Given the description of an element on the screen output the (x, y) to click on. 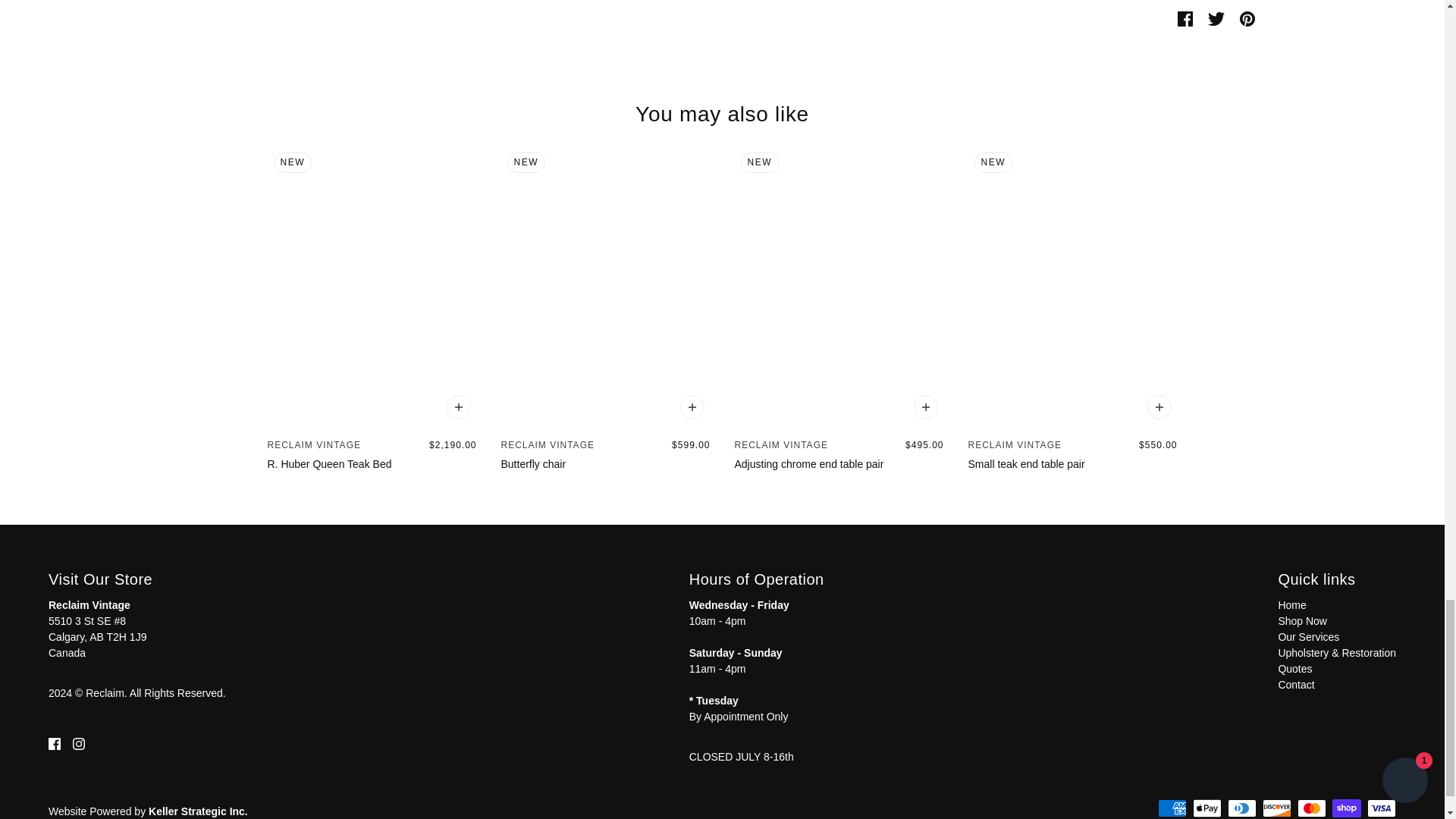
Contact (1296, 684)
Shop Now (1302, 621)
Quotes (1294, 668)
Discover (1276, 808)
Diners Club (1241, 808)
Mastercard (1311, 808)
American Express (1171, 808)
Home (1292, 604)
Our Services (1308, 636)
Visa (1381, 808)
Shop Pay (1346, 808)
Apple Pay (1206, 808)
